Given the description of an element on the screen output the (x, y) to click on. 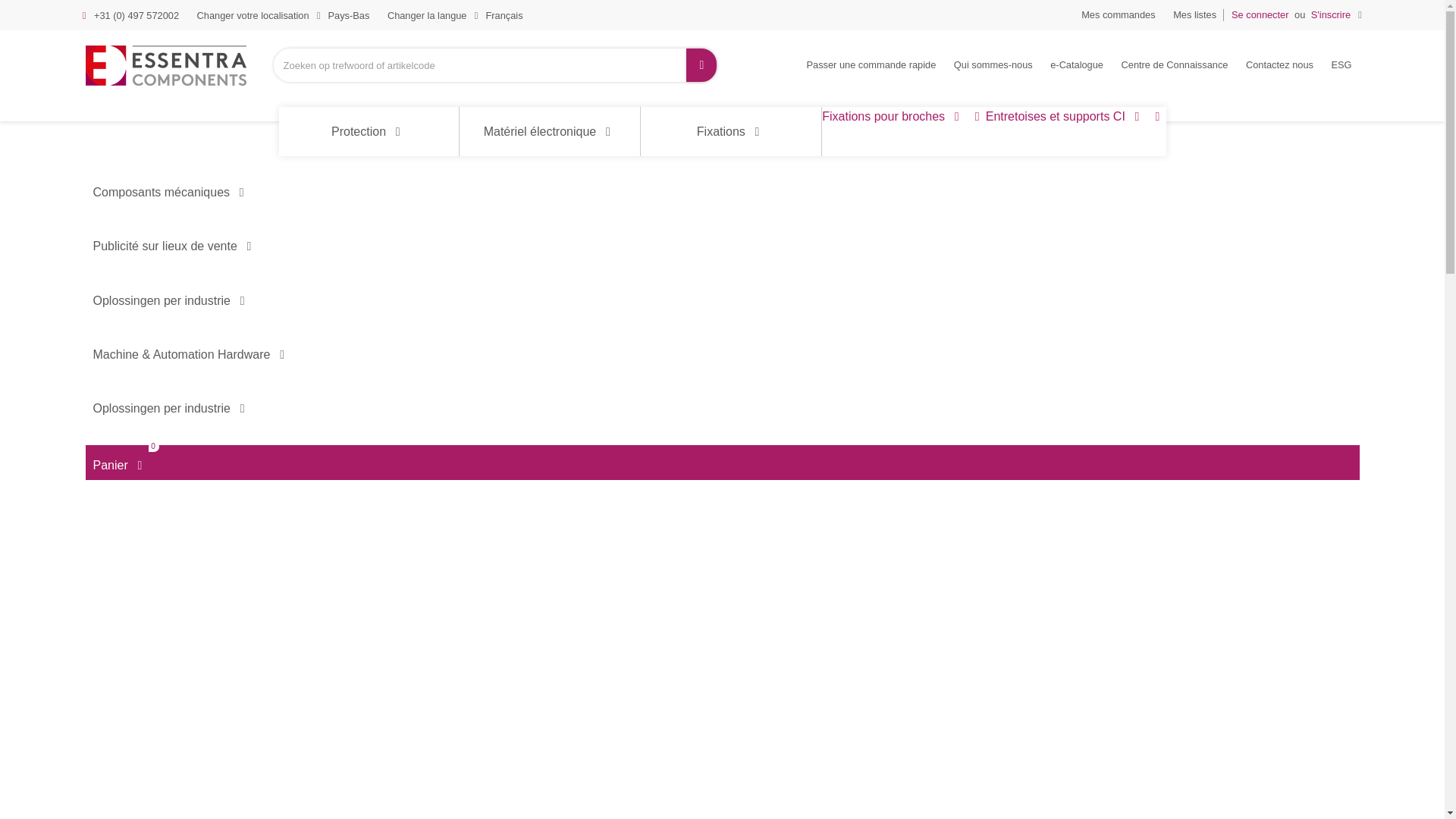
Changer votre localisation Pays-Bas (283, 15)
